Given the description of an element on the screen output the (x, y) to click on. 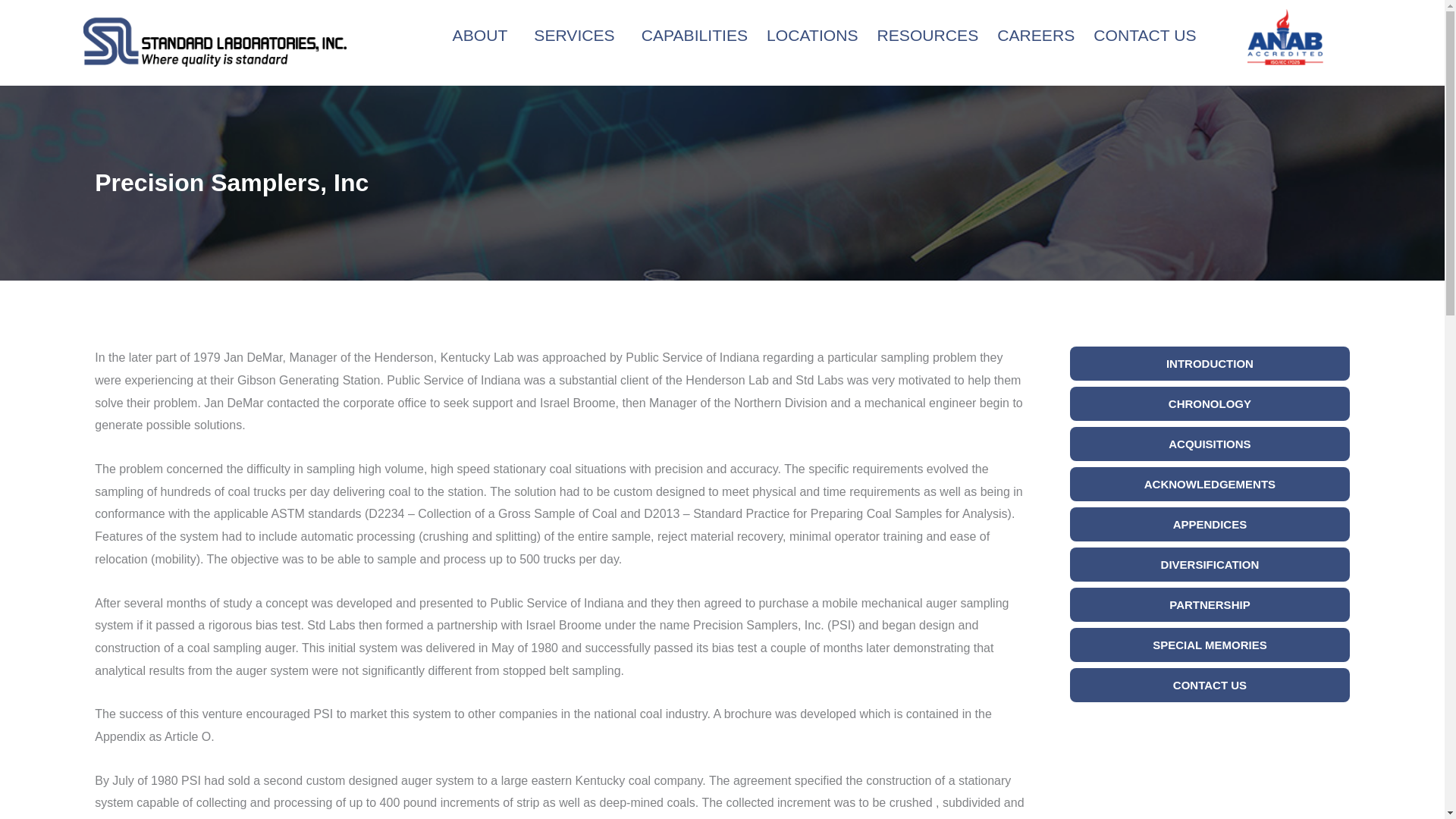
CONTACT US (1209, 684)
CAREERS (1035, 34)
PARTNERSHIP (1209, 604)
APPENDICES (1209, 523)
ACQUISITIONS (1209, 443)
ABOUT (483, 34)
CHRONOLOGY (1209, 403)
CONTACT US (1144, 34)
SPECIAL MEMORIES (1209, 644)
INTRODUCTION (1209, 363)
DIVERSIFICATION (1209, 564)
LOCATIONS (812, 34)
ACKNOWLEDGEMENTS (1209, 483)
RESOURCES (927, 34)
CAPABILITIES (695, 34)
